Given the description of an element on the screen output the (x, y) to click on. 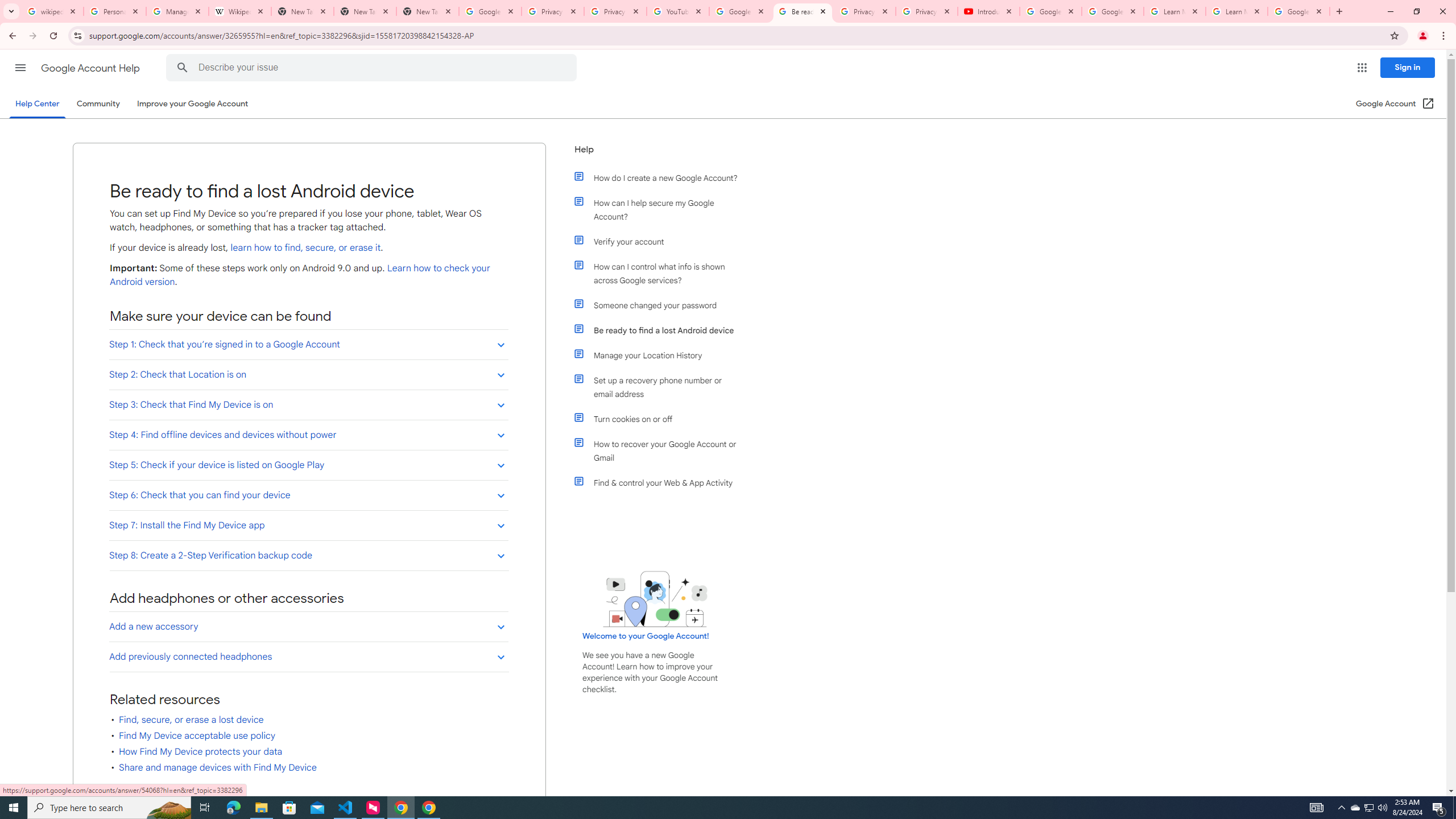
Manage your Location History (661, 355)
Manage your Location History - Google Search Help (177, 11)
Step 3: Check that Find My Device is on (308, 404)
